Given the description of an element on the screen output the (x, y) to click on. 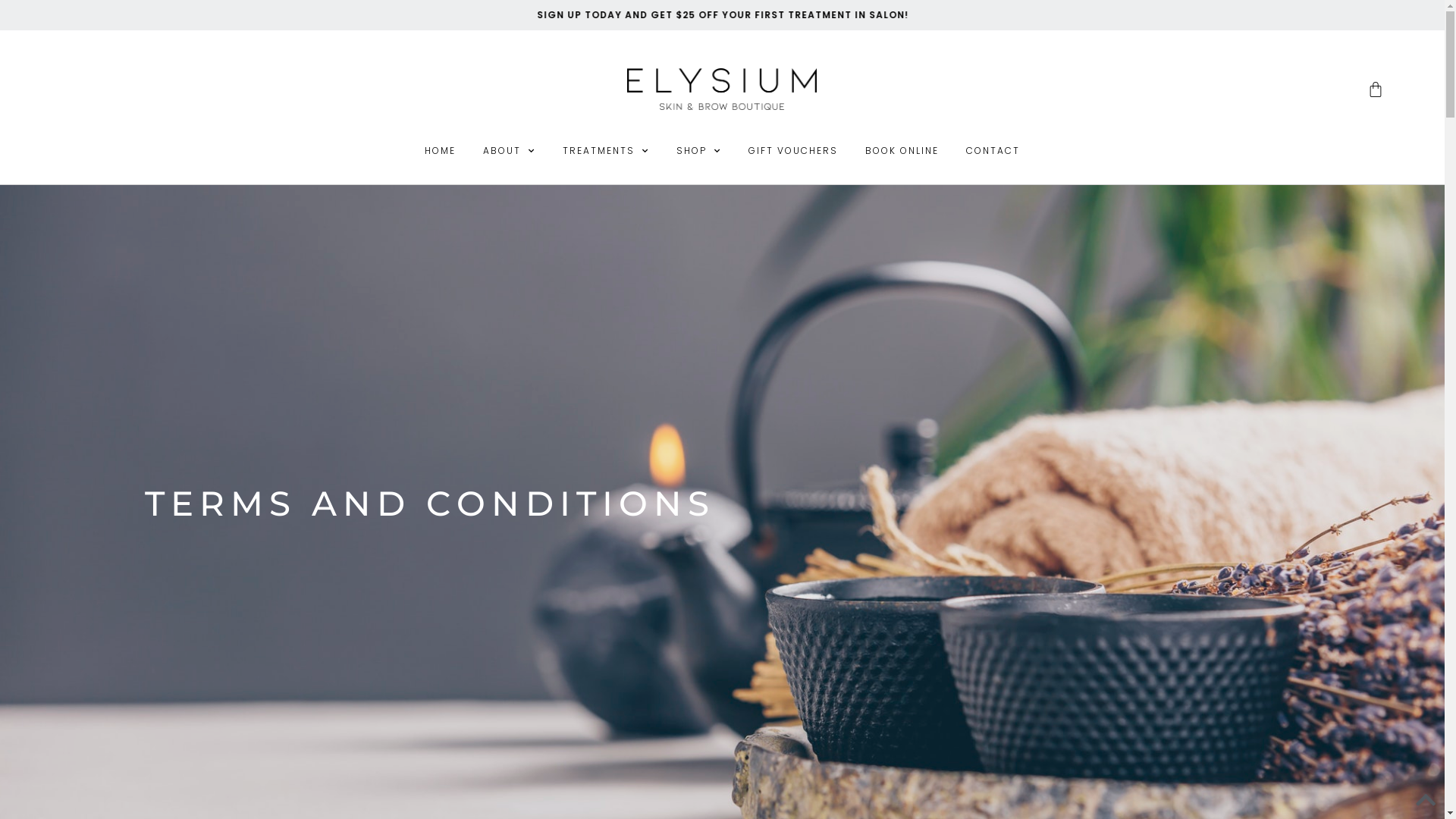
HOME Element type: text (440, 150)
ABOUT Element type: text (508, 150)
BOOK ONLINE Element type: text (901, 150)
GIFT VOUCHERS Element type: text (793, 150)
TREATMENTS Element type: text (605, 150)
CONTACT Element type: text (992, 150)
SHOP Element type: text (698, 150)
Cart Element type: text (1375, 89)
